Given the description of an element on the screen output the (x, y) to click on. 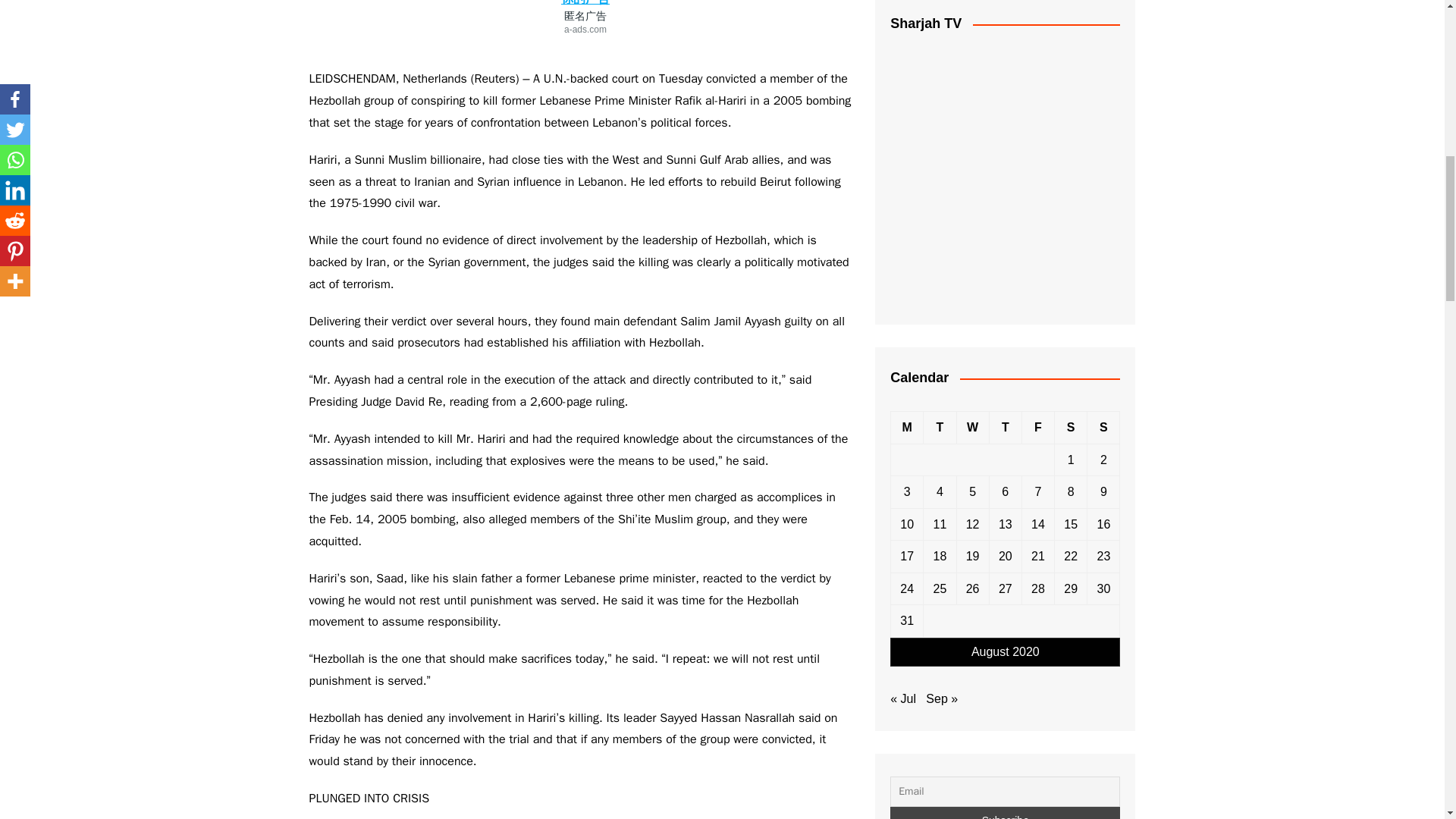
Friday (1038, 427)
Saturday (1070, 427)
Monday (907, 427)
Tuesday (939, 427)
Sunday (1103, 427)
Wednesday (972, 427)
Thursday (1005, 427)
Subscribe (1004, 812)
